Given the description of an element on the screen output the (x, y) to click on. 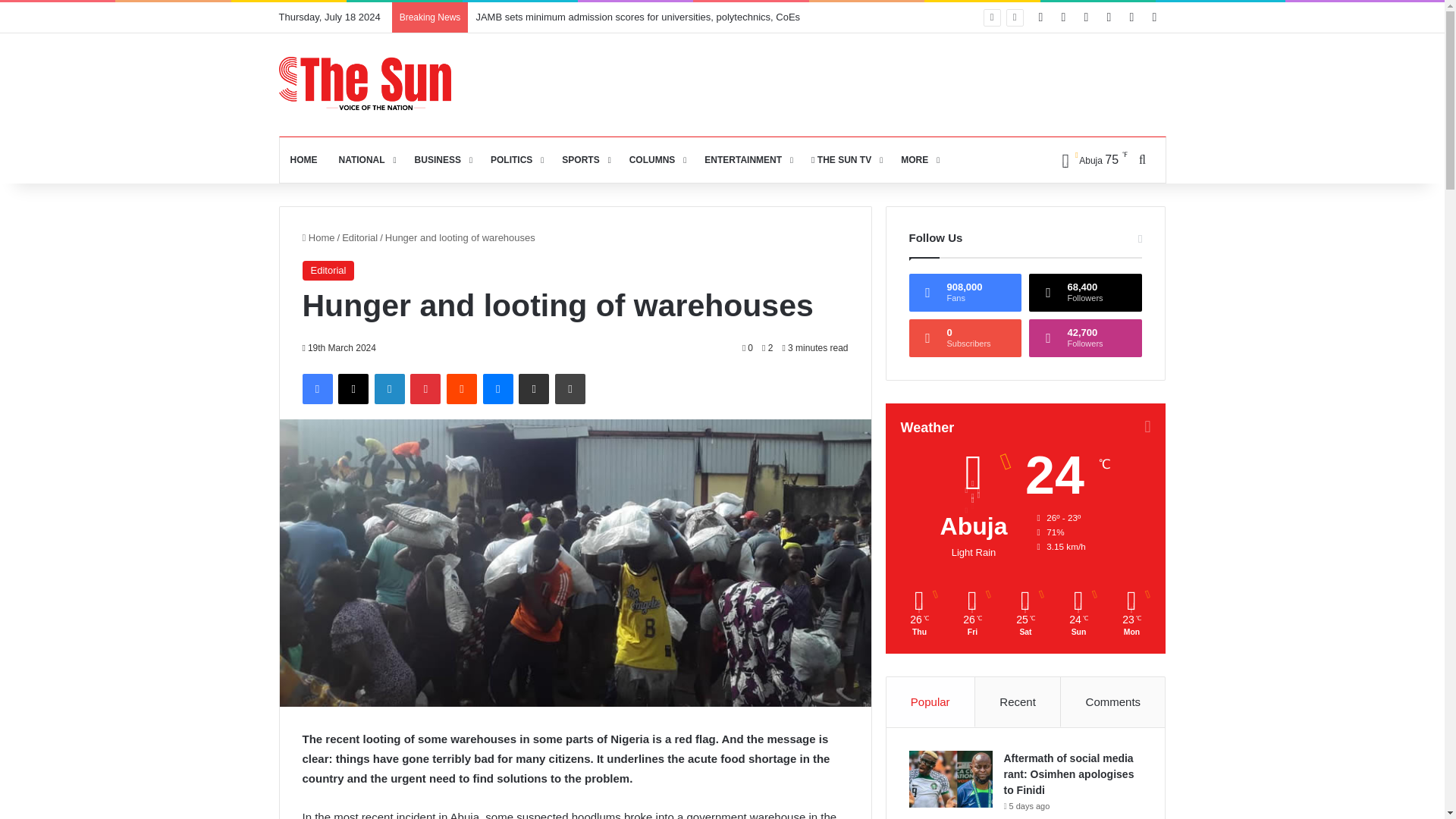
Print (569, 388)
Share via Email (533, 388)
X (352, 388)
BUSINESS (442, 159)
POLITICS (515, 159)
Reddit (461, 388)
LinkedIn (389, 388)
MORE (918, 159)
NATIONAL (365, 159)
HOME (303, 159)
The Sun Nigeria (365, 84)
COLUMNS (656, 159)
Light Rain (1088, 158)
Pinterest (425, 388)
THE SUN TV (844, 159)
